Given the description of an element on the screen output the (x, y) to click on. 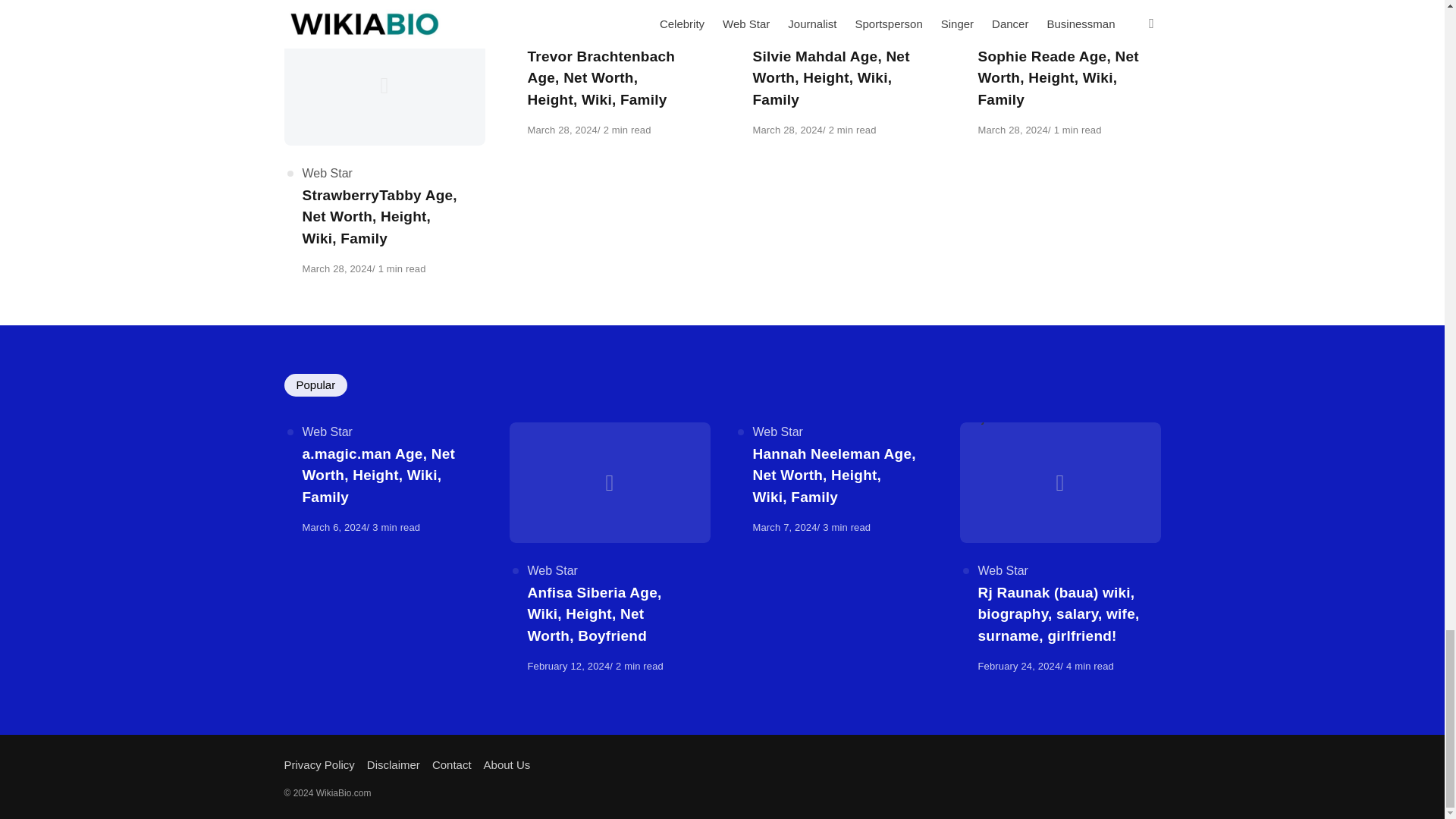
March 28, 2024 (336, 268)
March 7, 2024 (784, 527)
March 28, 2024 (1013, 129)
Web Star (552, 33)
March 28, 2024 (561, 129)
March 6, 2024 (333, 527)
March 28, 2024 (787, 129)
February 12, 2024 (568, 665)
Web Star (1002, 33)
March 28, 2024 (561, 129)
